Given the description of an element on the screen output the (x, y) to click on. 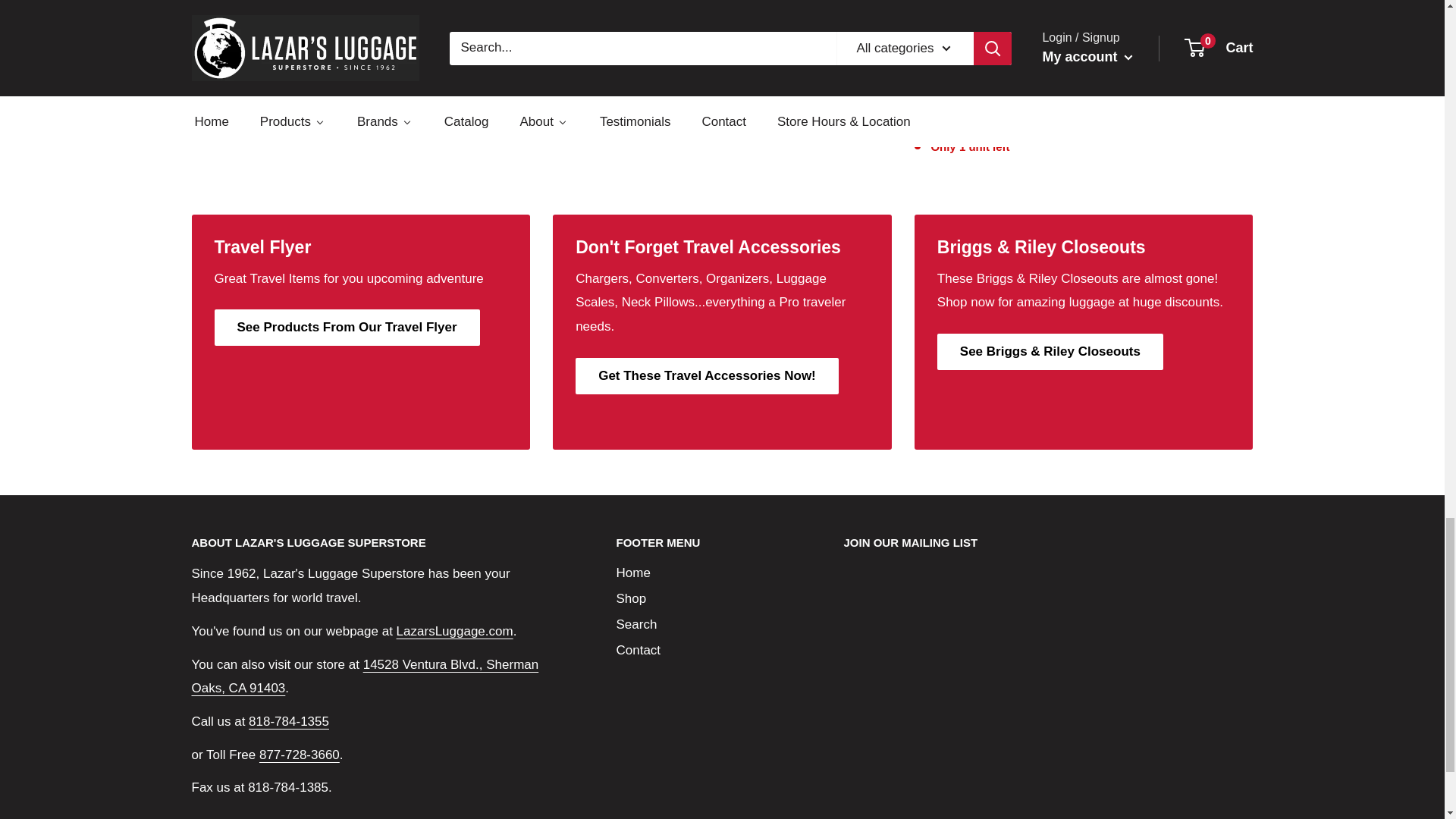
Tan (746, 54)
Orange (1168, 54)
Beige (215, 73)
Red (1101, 54)
Black (569, 73)
Green (1146, 54)
Black 711-59 (924, 92)
Brown (592, 73)
Cognac 711-32 (946, 92)
Yellow (1123, 54)
